Given the description of an element on the screen output the (x, y) to click on. 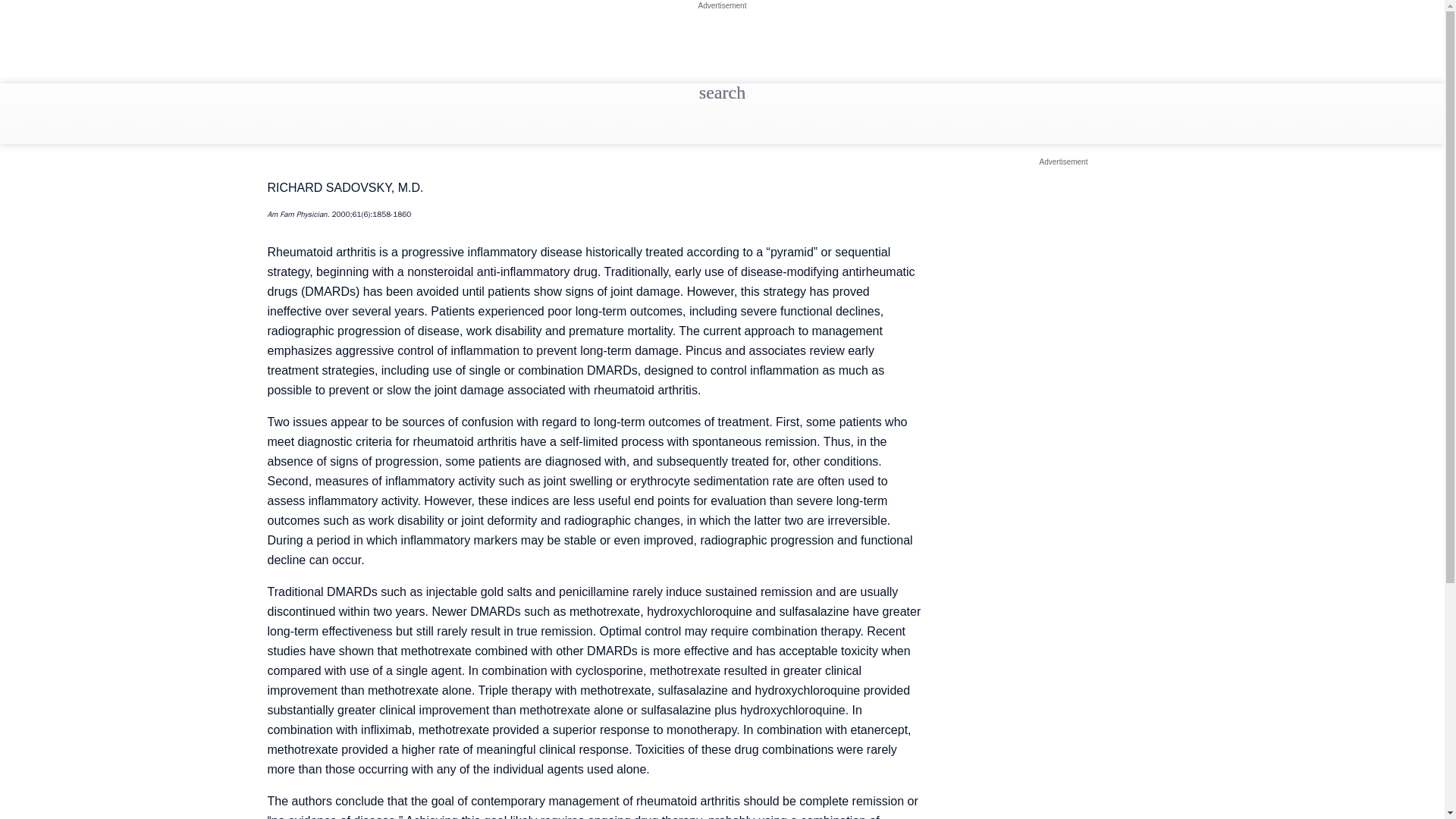
Advertisement (1063, 162)
Advertisement (722, 5)
